Given the description of an element on the screen output the (x, y) to click on. 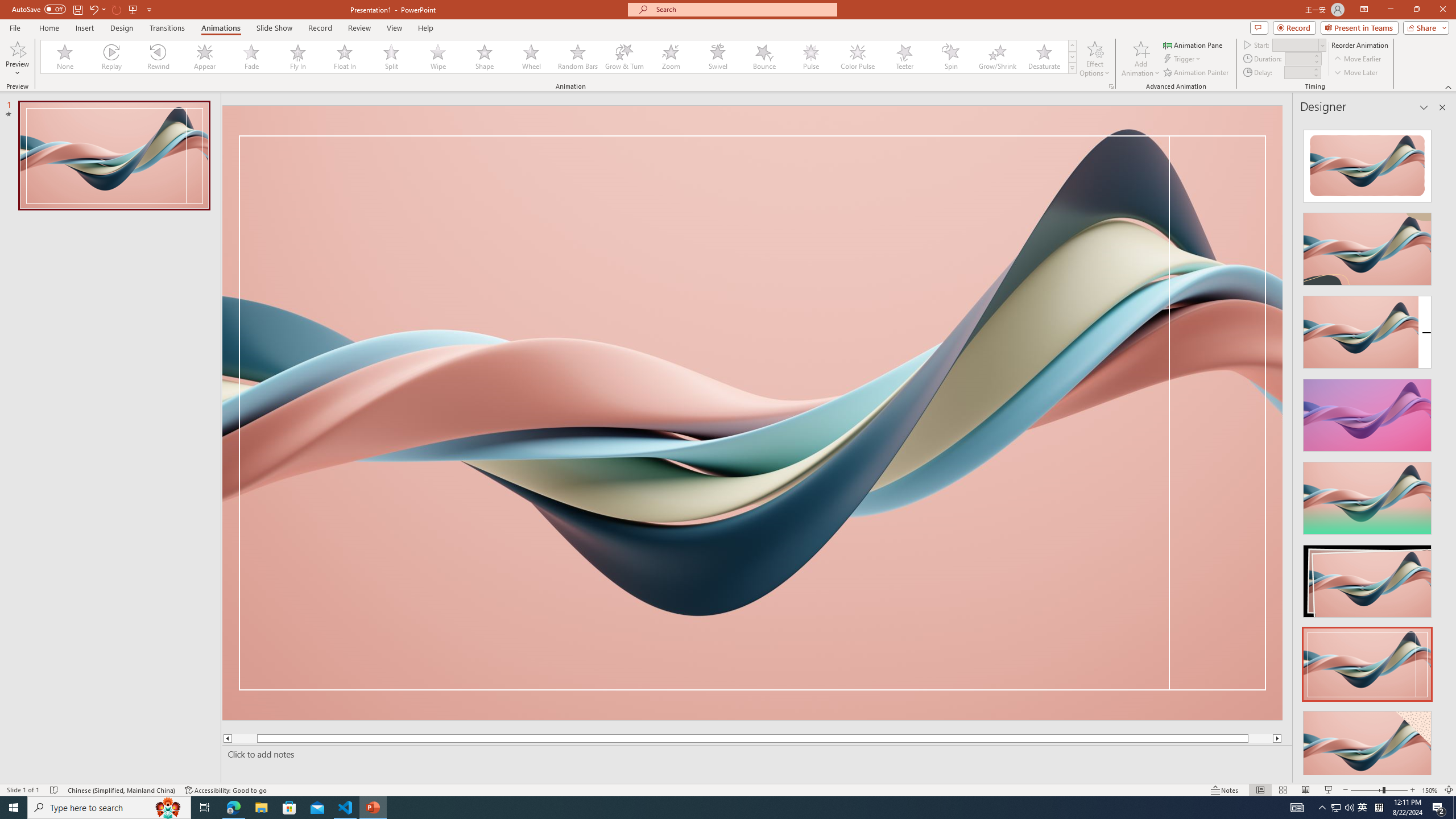
AutomationID: AnimationGallery (558, 56)
Fly In (298, 56)
Pulse (810, 56)
Rewind (158, 56)
Shape (484, 56)
